Given the description of an element on the screen output the (x, y) to click on. 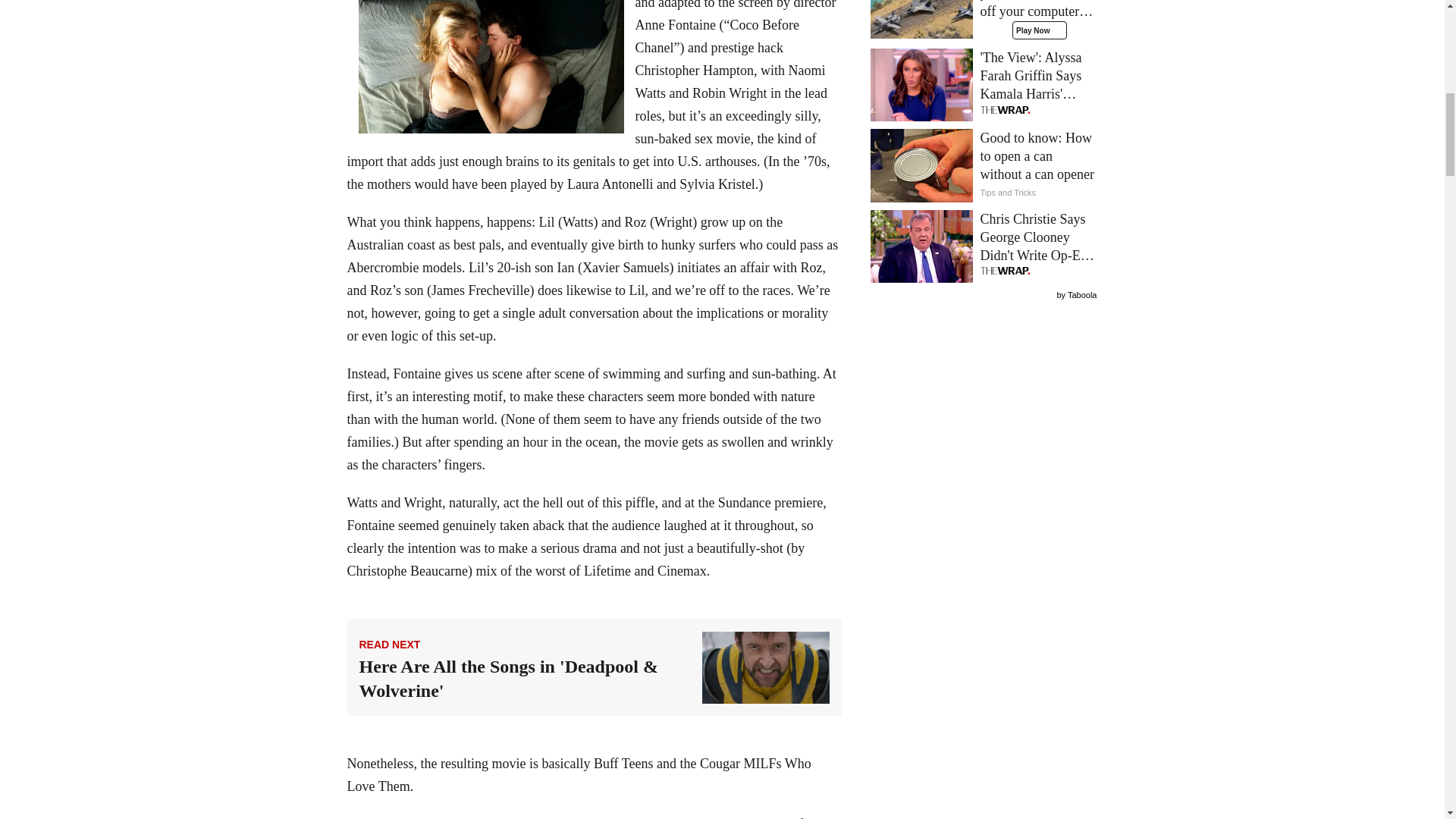
Good to know: How to open a can without a can opener (983, 164)
